Given the description of an element on the screen output the (x, y) to click on. 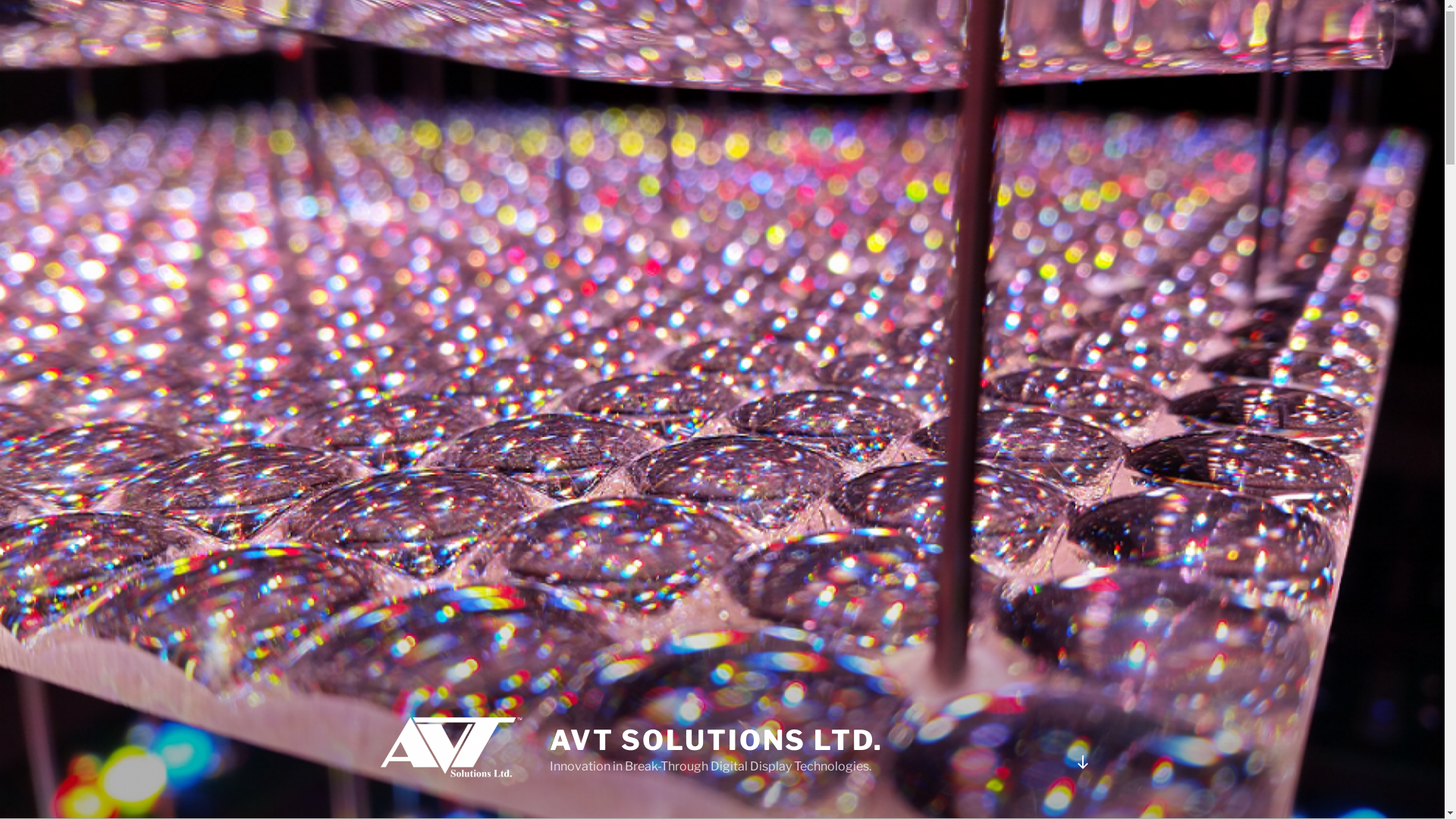
Scroll down to content Element type: text (1082, 761)
AVT SOLUTIONS LTD. Element type: text (716, 739)
